Given the description of an element on the screen output the (x, y) to click on. 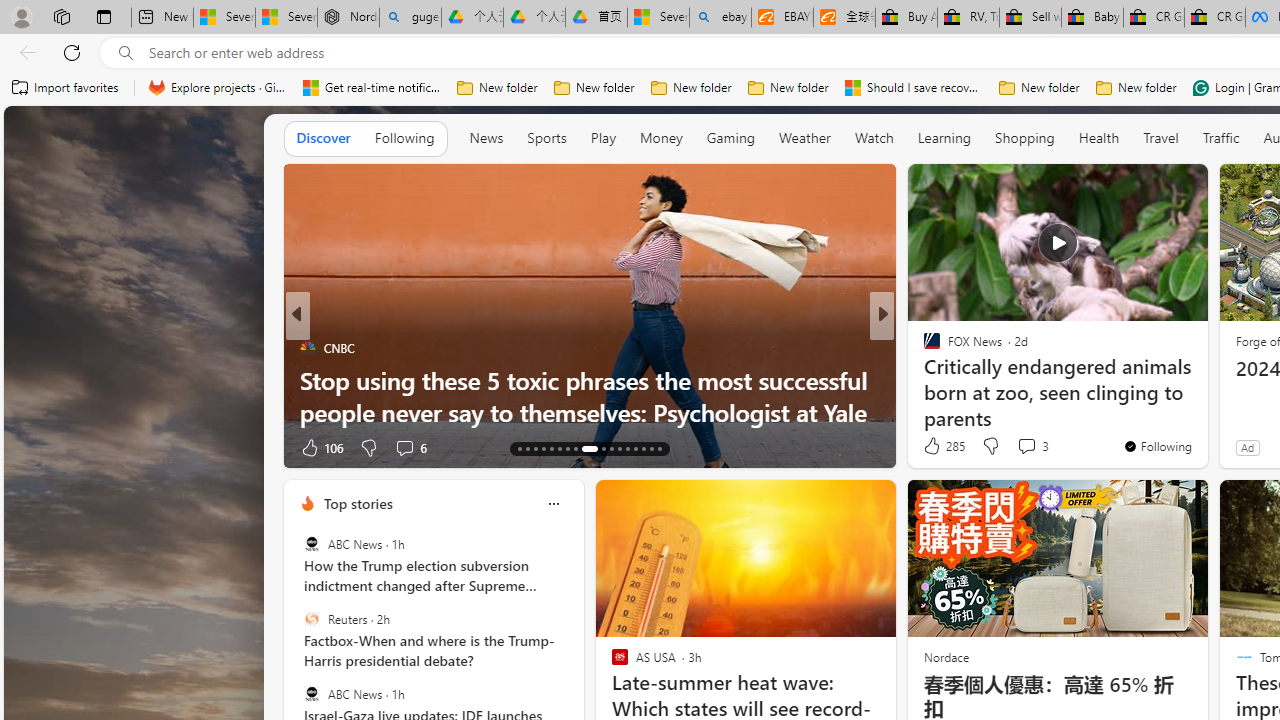
TechRadar (923, 347)
View comments 167 Comment (1013, 447)
Traffic (1220, 138)
View comments 3 Comment (1026, 445)
Search icon (125, 53)
AutomationID: tab-42 (659, 448)
AutomationID: tab-17 (550, 448)
Gaming (730, 138)
You're following FOX News (1157, 445)
Travel (1160, 138)
AutomationID: tab-21 (582, 448)
